Given the description of an element on the screen output the (x, y) to click on. 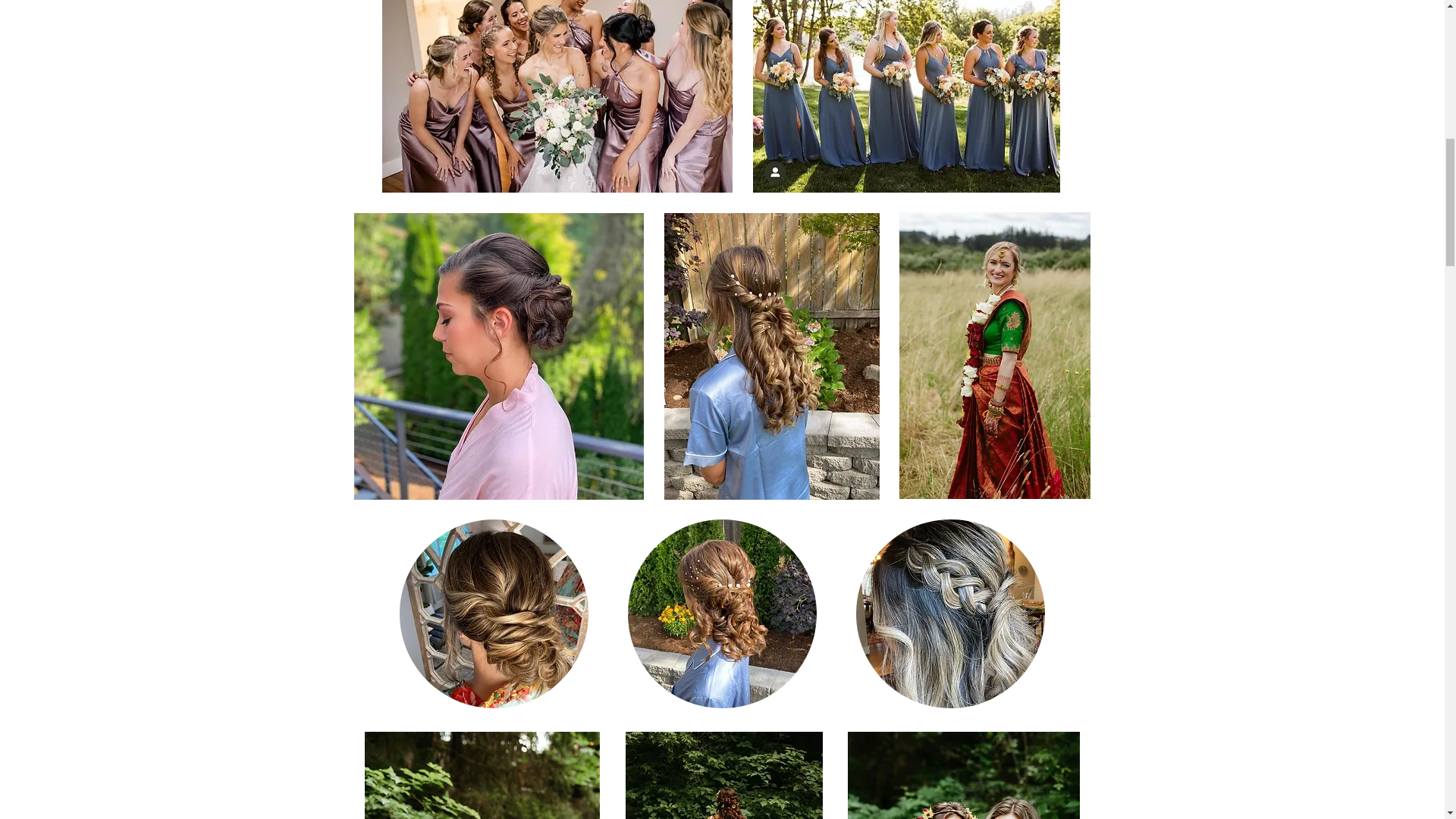
1.jpeg (556, 96)
8.jpeg (949, 613)
6.jpeg (498, 355)
3.jpeg (771, 355)
16.jpeg (723, 775)
2.jpeg (721, 613)
9.jpeg (963, 775)
7.jpeg (493, 613)
4.jpeg (994, 355)
11.jpeg (481, 775)
10.jpeg (905, 96)
